Given the description of an element on the screen output the (x, y) to click on. 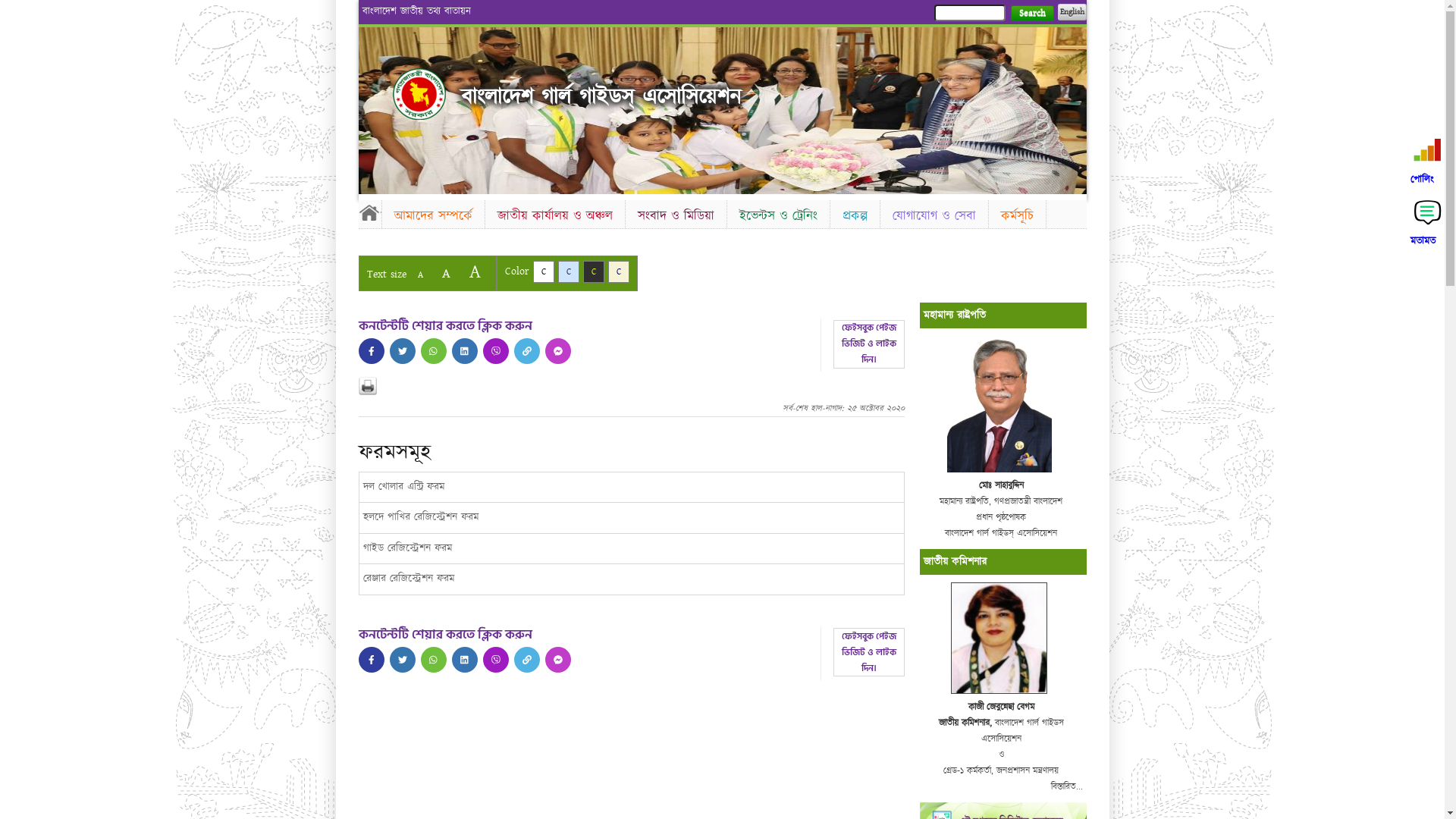
English Element type: text (1071, 11)
C Element type: text (568, 271)
A Element type: text (419, 274)
C Element type: text (592, 271)
Home Element type: hover (368, 211)
C Element type: text (542, 271)
A Element type: text (474, 271)
Home Element type: hover (418, 93)
Search Element type: text (1031, 13)
C Element type: text (618, 271)
A Element type: text (445, 273)
